Given the description of an element on the screen output the (x, y) to click on. 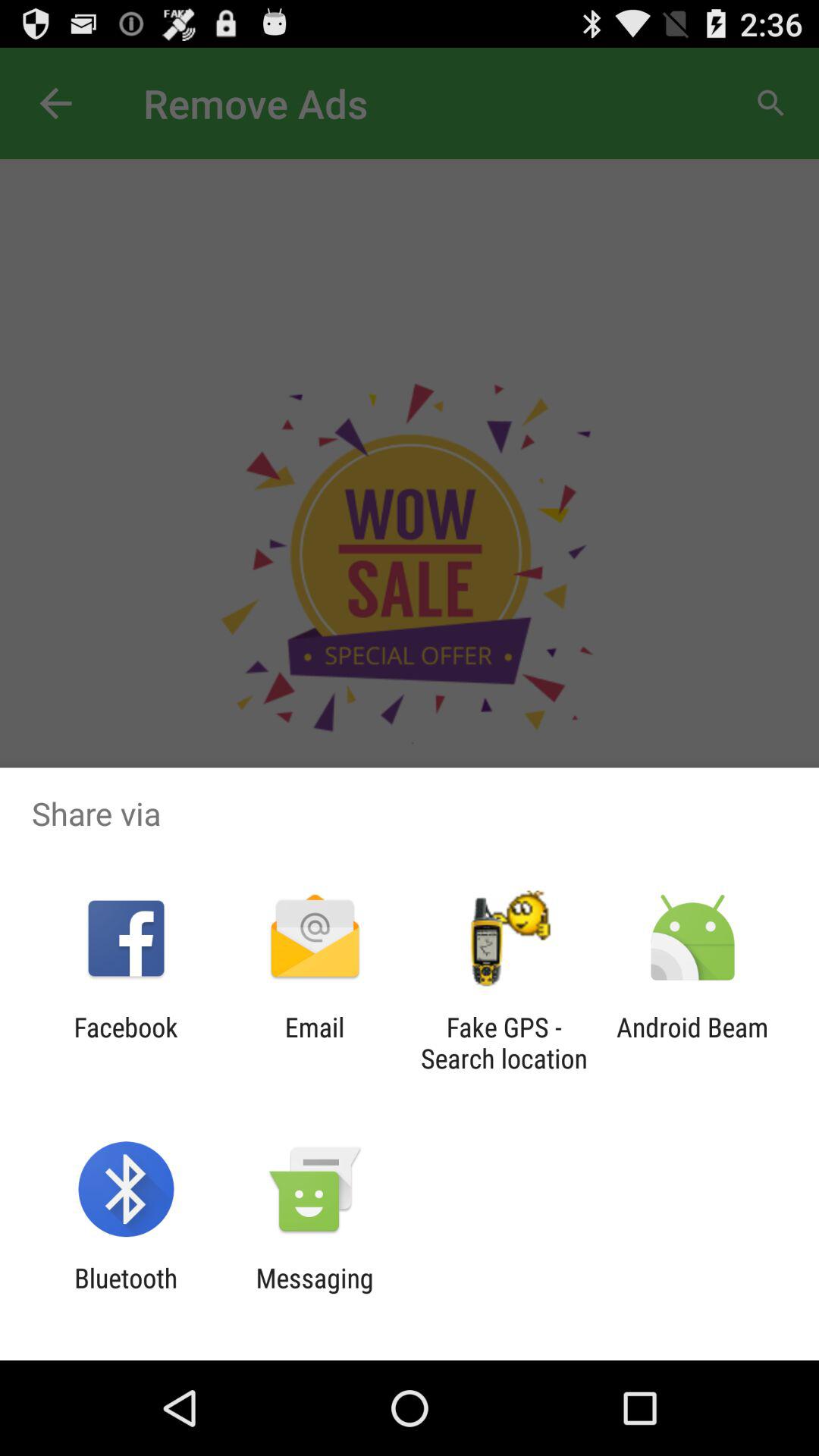
tap icon next to android beam (503, 1042)
